Given the description of an element on the screen output the (x, y) to click on. 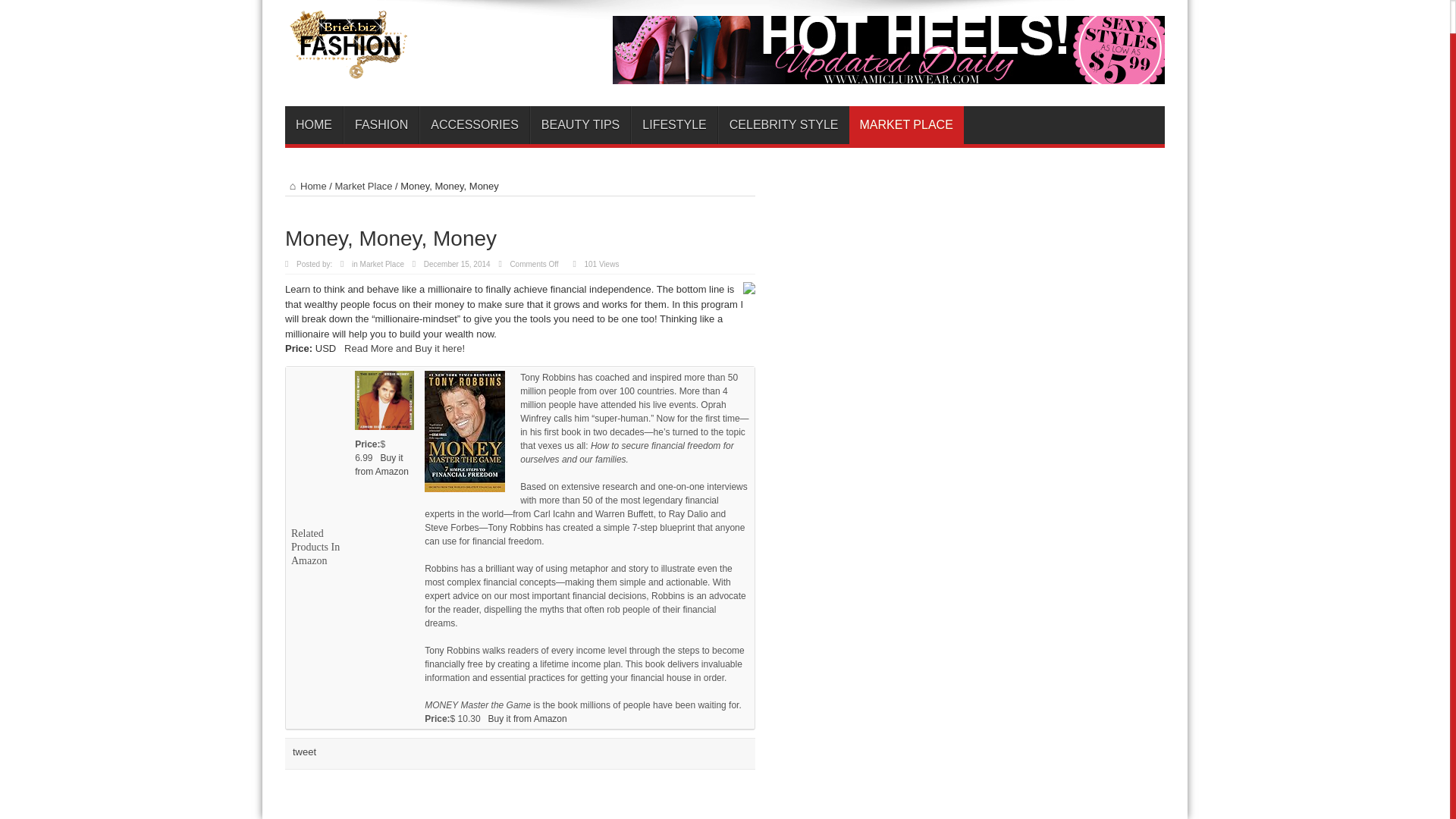
tweet (303, 751)
HOME (313, 125)
LIFESTYLE (673, 125)
FASHION (381, 125)
Buy it from Amazon (527, 717)
CELEBRITY STYLE (782, 125)
Read More and Buy it here! (403, 348)
Market Place (363, 185)
Home (305, 185)
Buy it from Amazon (382, 464)
